Given the description of an element on the screen output the (x, y) to click on. 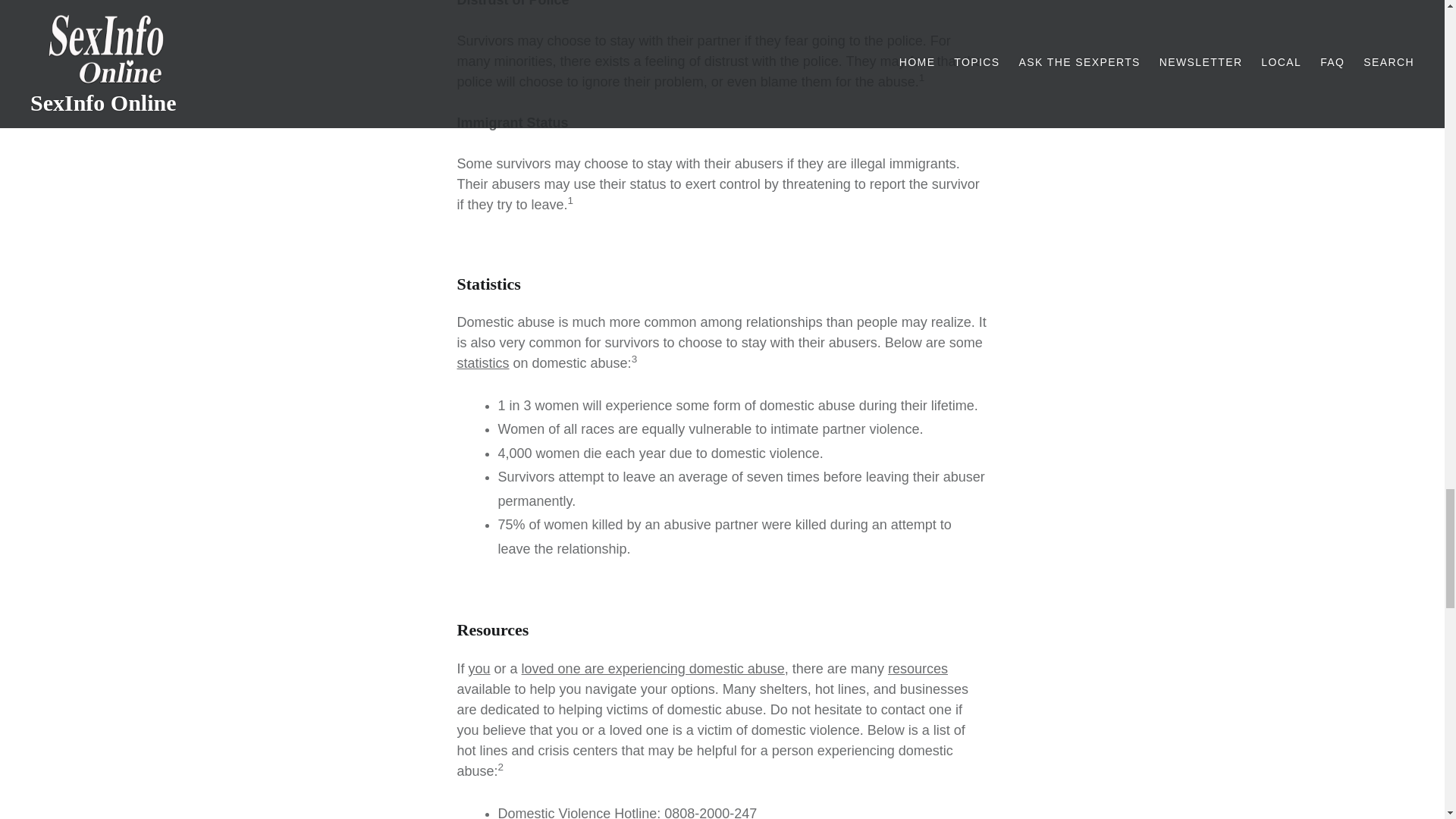
loved one are experiencing domestic abuse (652, 668)
statistics (482, 363)
you (479, 668)
resources (917, 668)
